Given the description of an element on the screen output the (x, y) to click on. 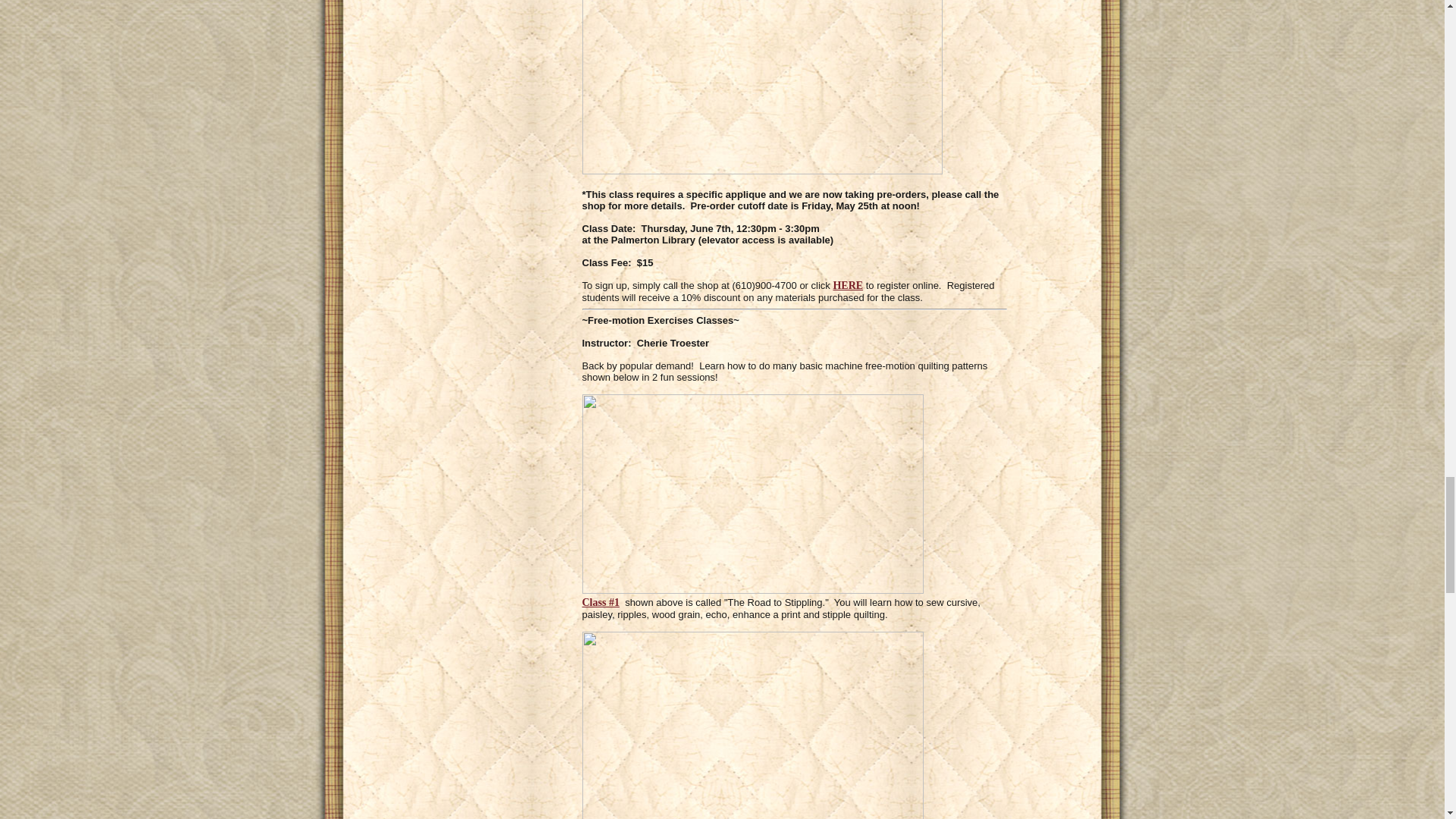
HERE (847, 285)
